Given the description of an element on the screen output the (x, y) to click on. 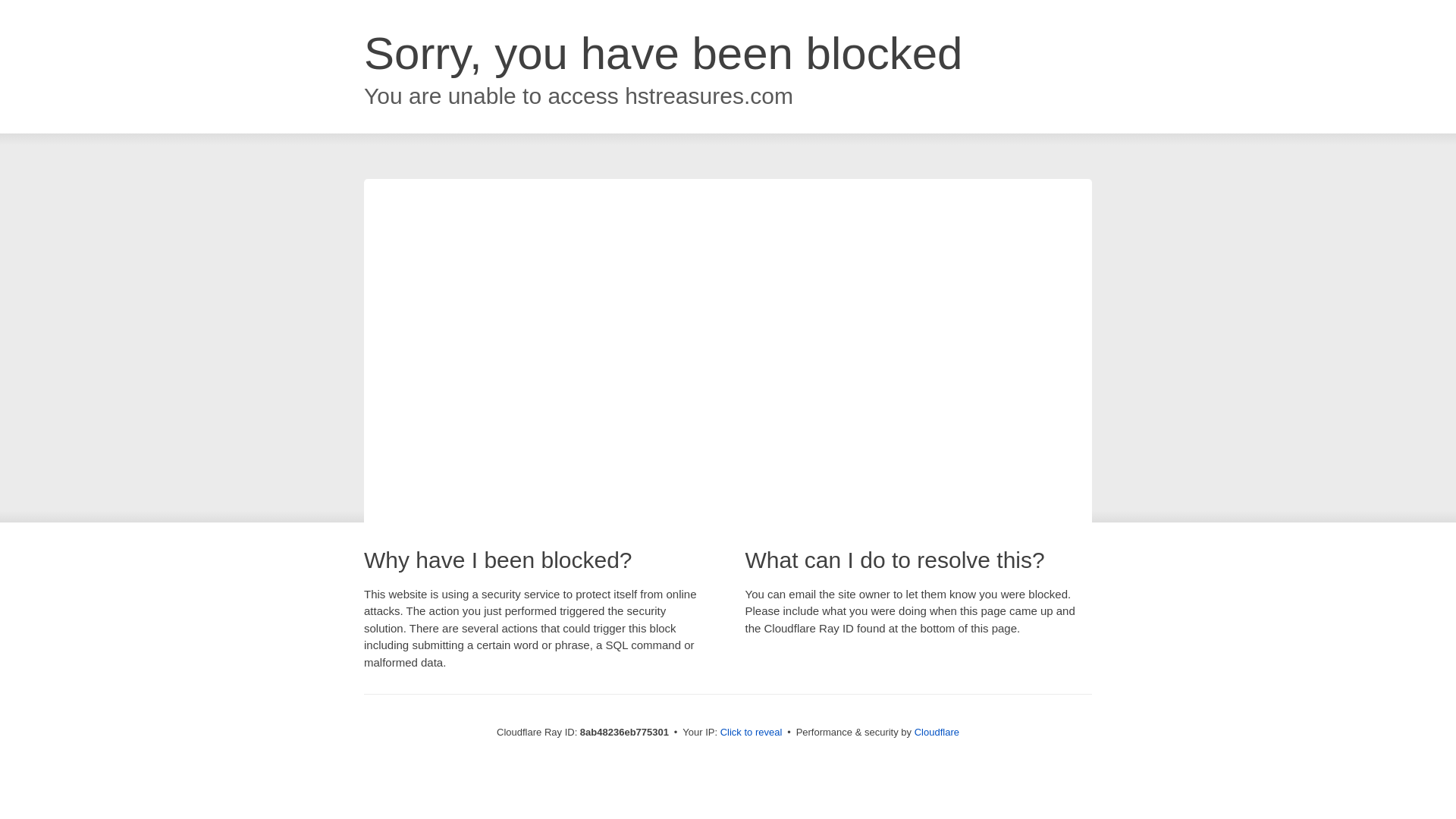
Cloudflare (936, 731)
Click to reveal (751, 732)
